Given the description of an element on the screen output the (x, y) to click on. 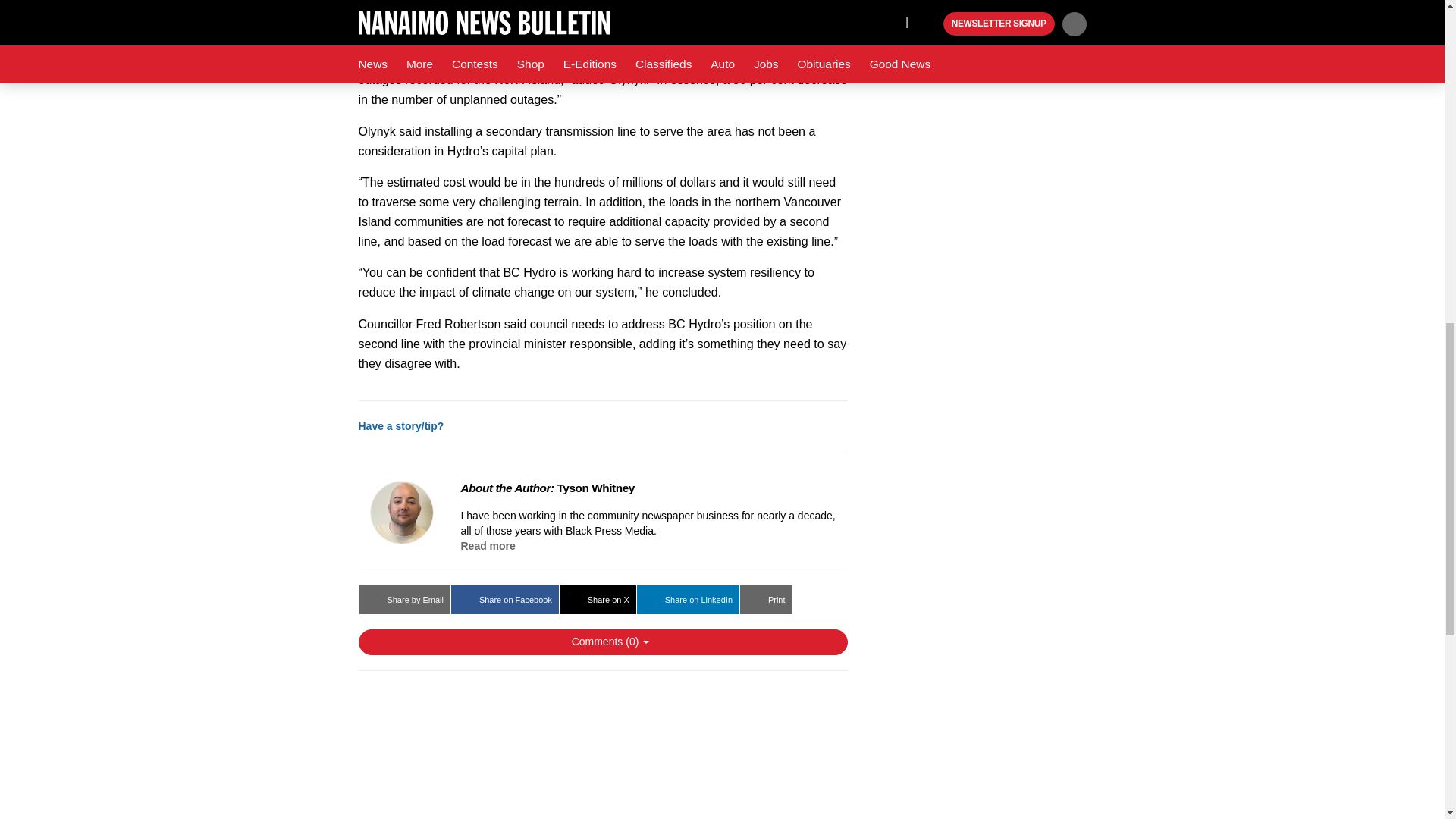
Show Comments (602, 642)
